Given the description of an element on the screen output the (x, y) to click on. 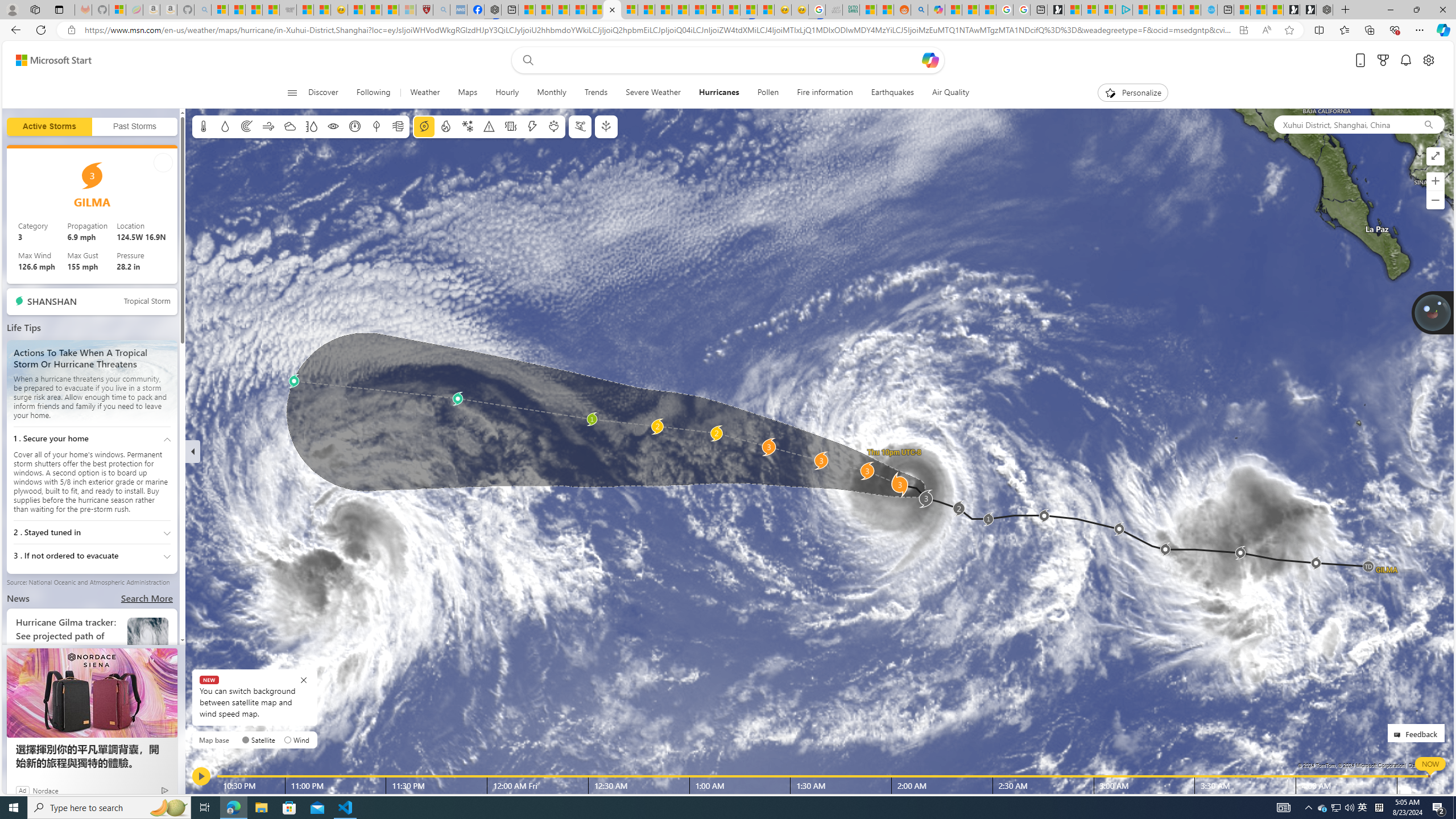
Severe weather (489, 126)
Utah sues federal government - Search (919, 9)
Past Storms (134, 126)
